Given the description of an element on the screen output the (x, y) to click on. 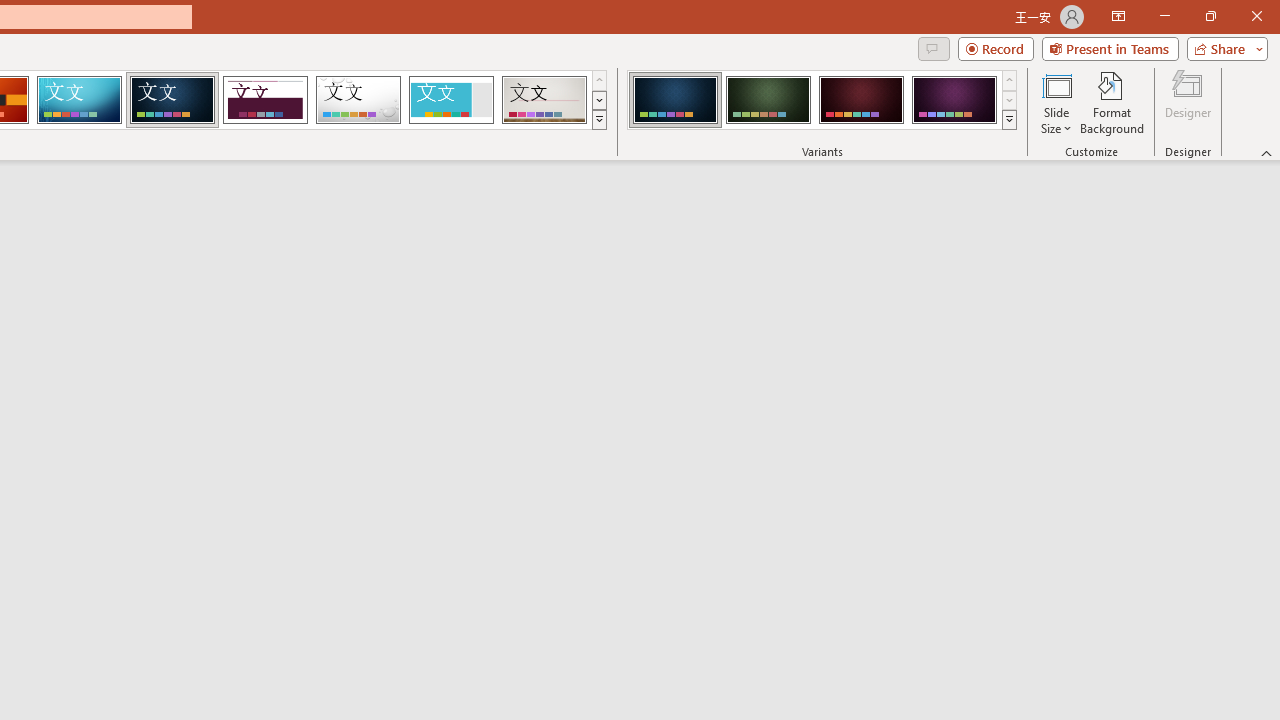
Damask Variant 4 (953, 100)
Themes (598, 120)
Damask Variant 3 (861, 100)
AutomationID: ThemeVariantsGallery (822, 99)
Dividend Loading Preview... (265, 100)
Variants (1009, 120)
Damask Variant 1 (674, 100)
Frame Loading Preview... (450, 100)
